Given the description of an element on the screen output the (x, y) to click on. 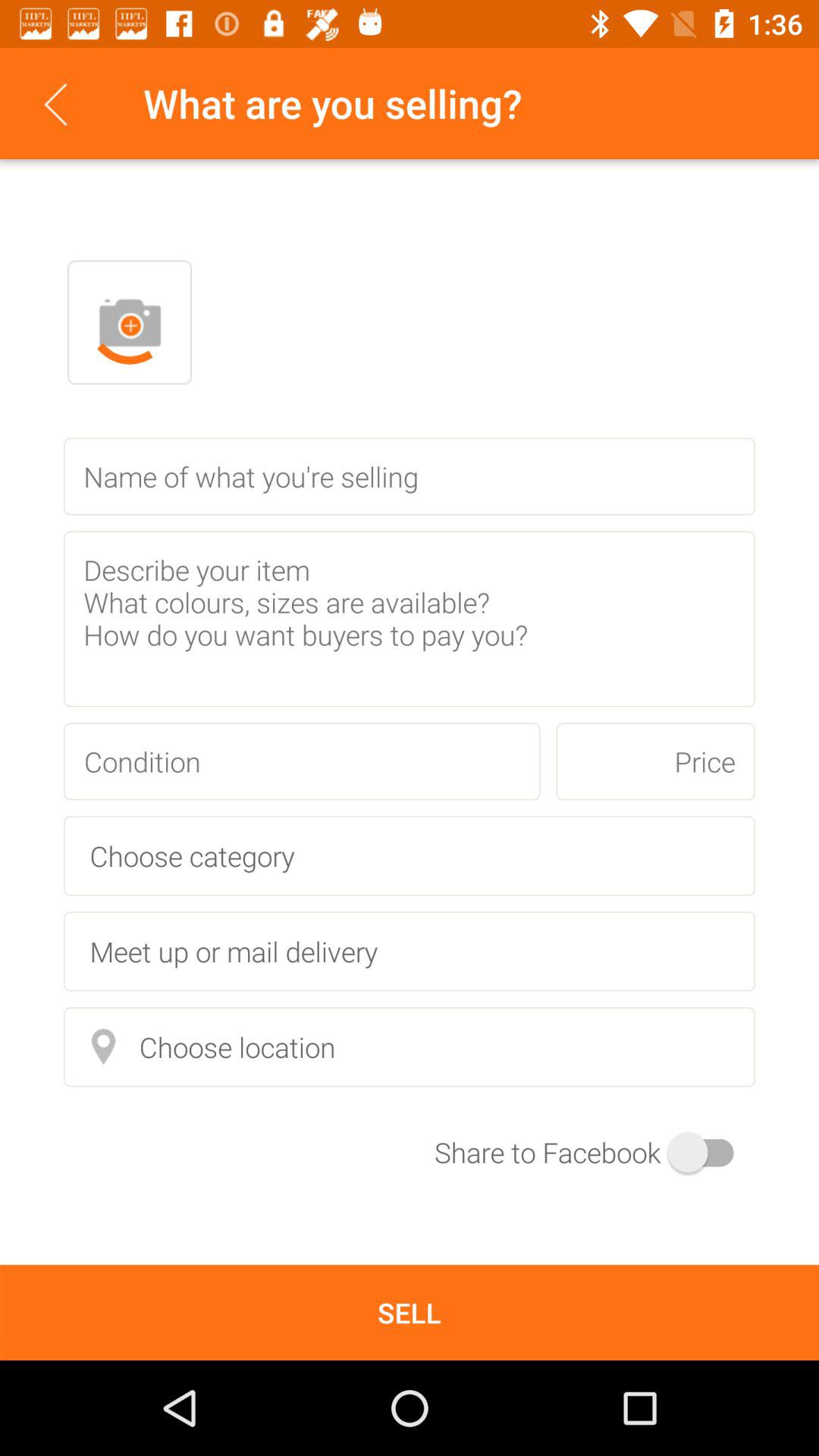
edit the price (655, 761)
